Given the description of an element on the screen output the (x, y) to click on. 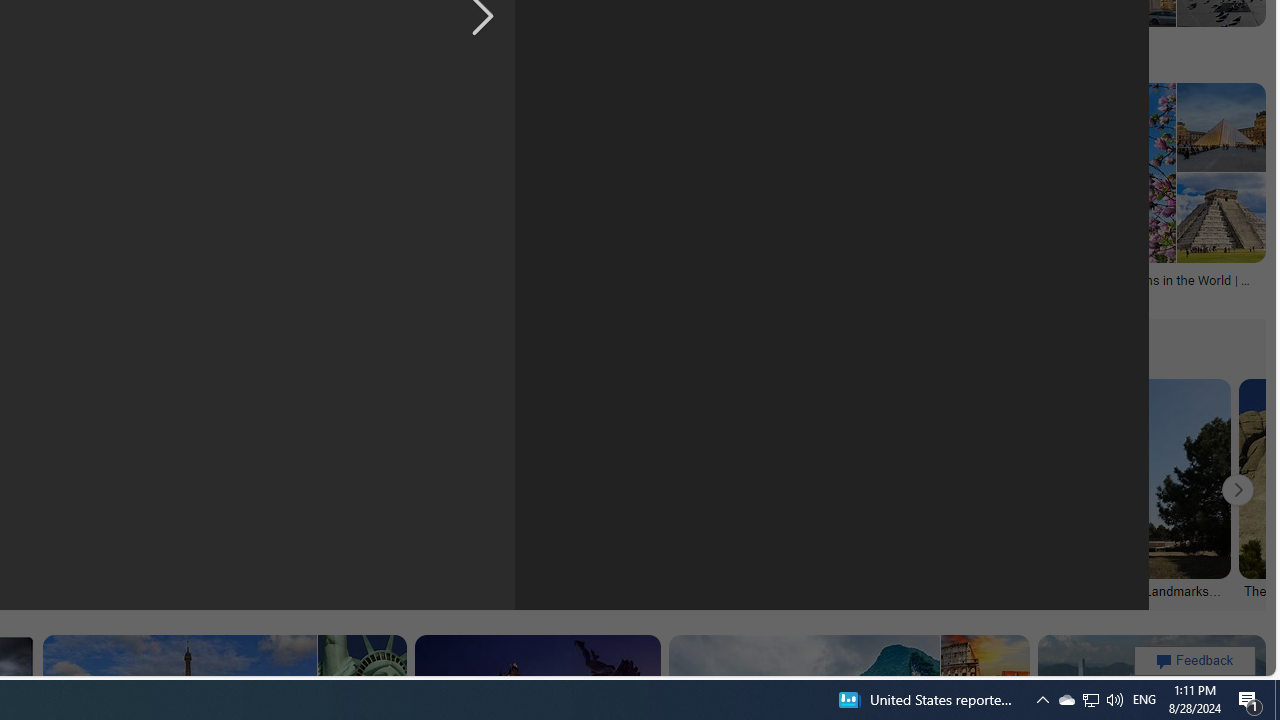
farandwide.com (436, 294)
Top world's tourist places to visit (149, 44)
Famous Tourist Spot In France (1100, 44)
businessinsider.com (403, 57)
blogspot.com (991, 57)
femuacorsica.com (188, 58)
dubaiomg.com (275, 295)
